Given the description of an element on the screen output the (x, y) to click on. 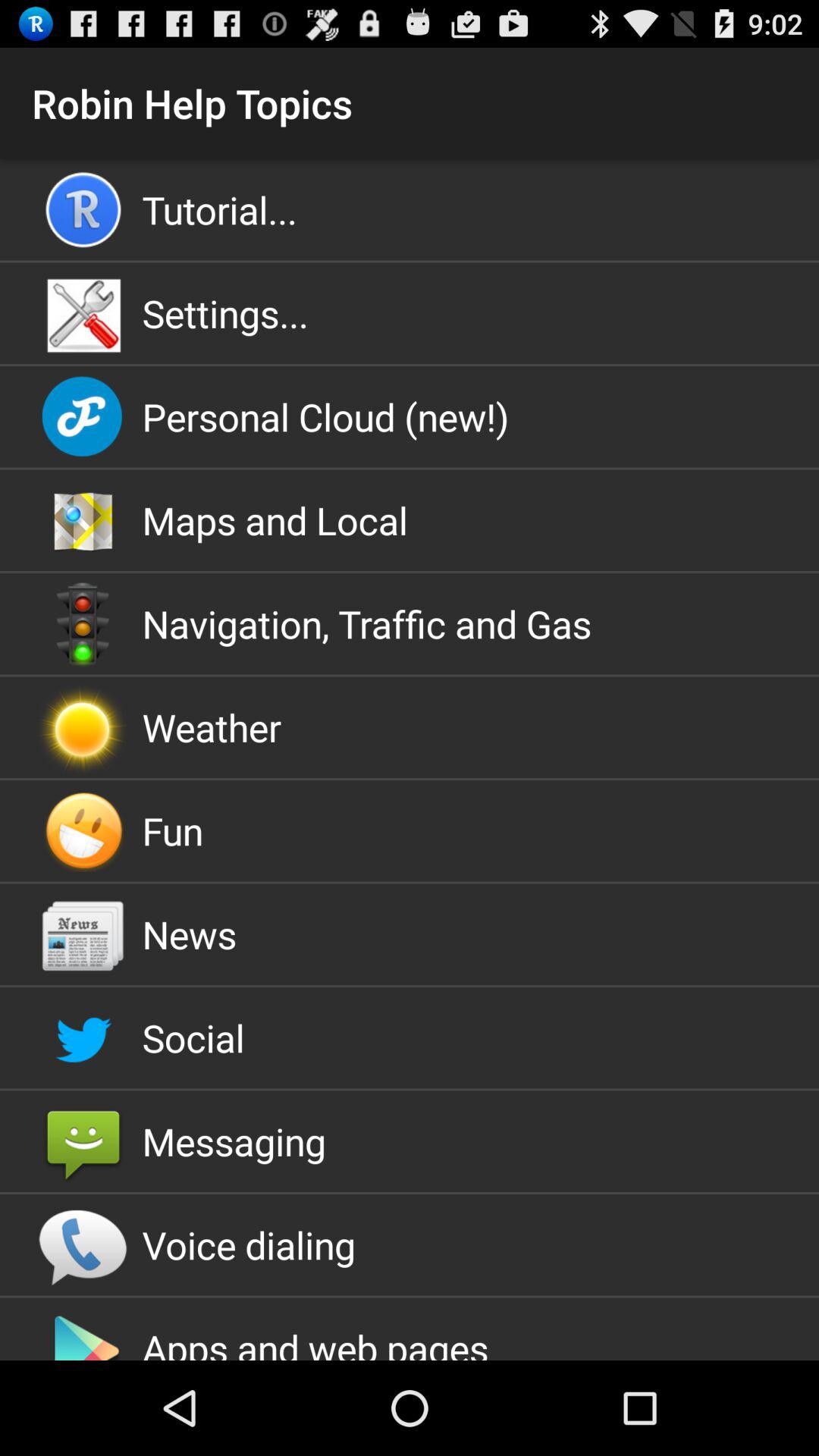
select the item below  personal cloud (new!) app (409, 520)
